Given the description of an element on the screen output the (x, y) to click on. 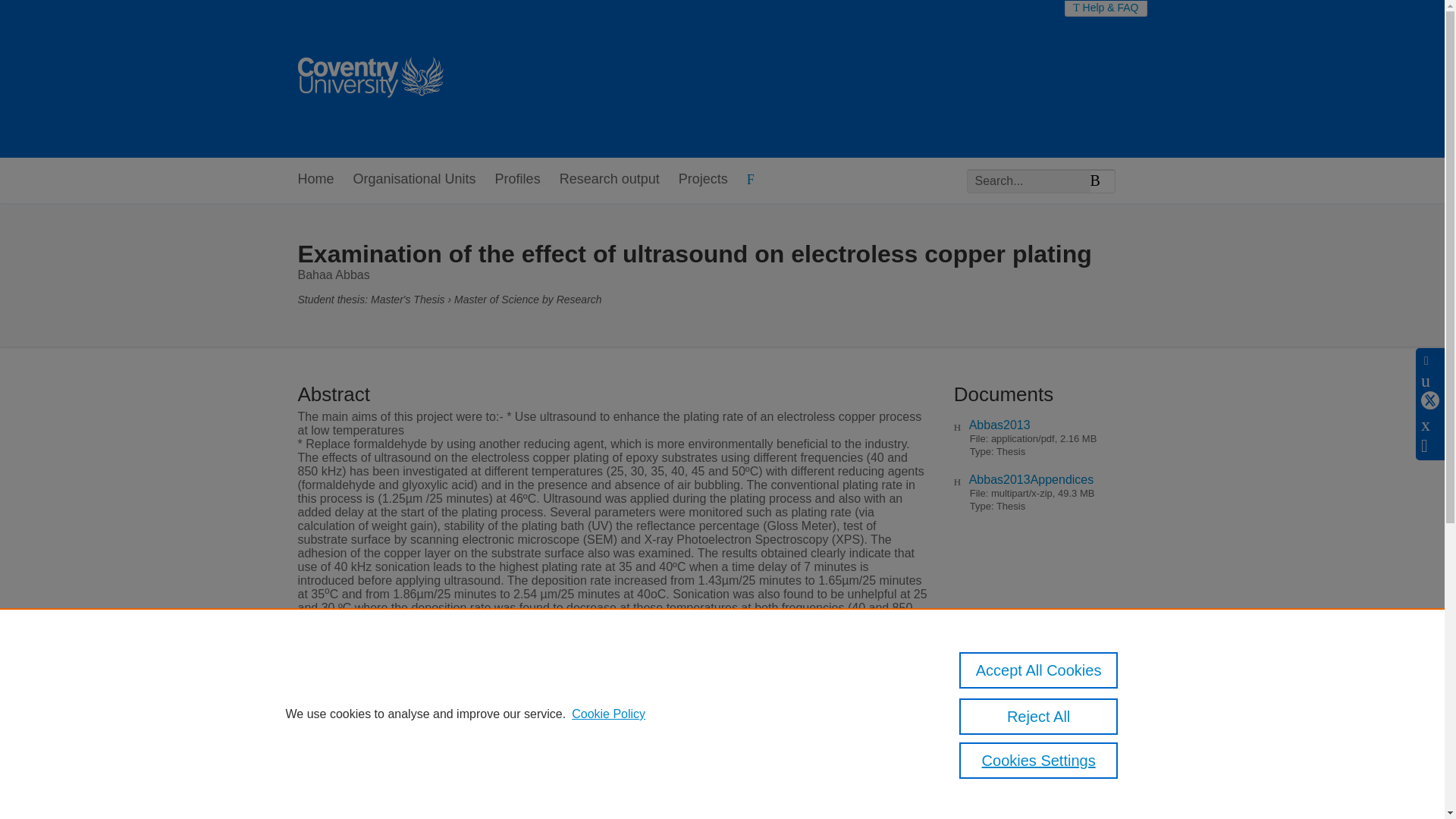
Projects (703, 180)
Organisational Units (414, 180)
Cookies Settings (1038, 760)
Profiles (517, 180)
Abbas2013 (999, 424)
John Graves (859, 800)
Andrew Cobley (709, 800)
Abbas2013Appendices (1031, 479)
Cookie Policy (608, 713)
